Given the description of an element on the screen output the (x, y) to click on. 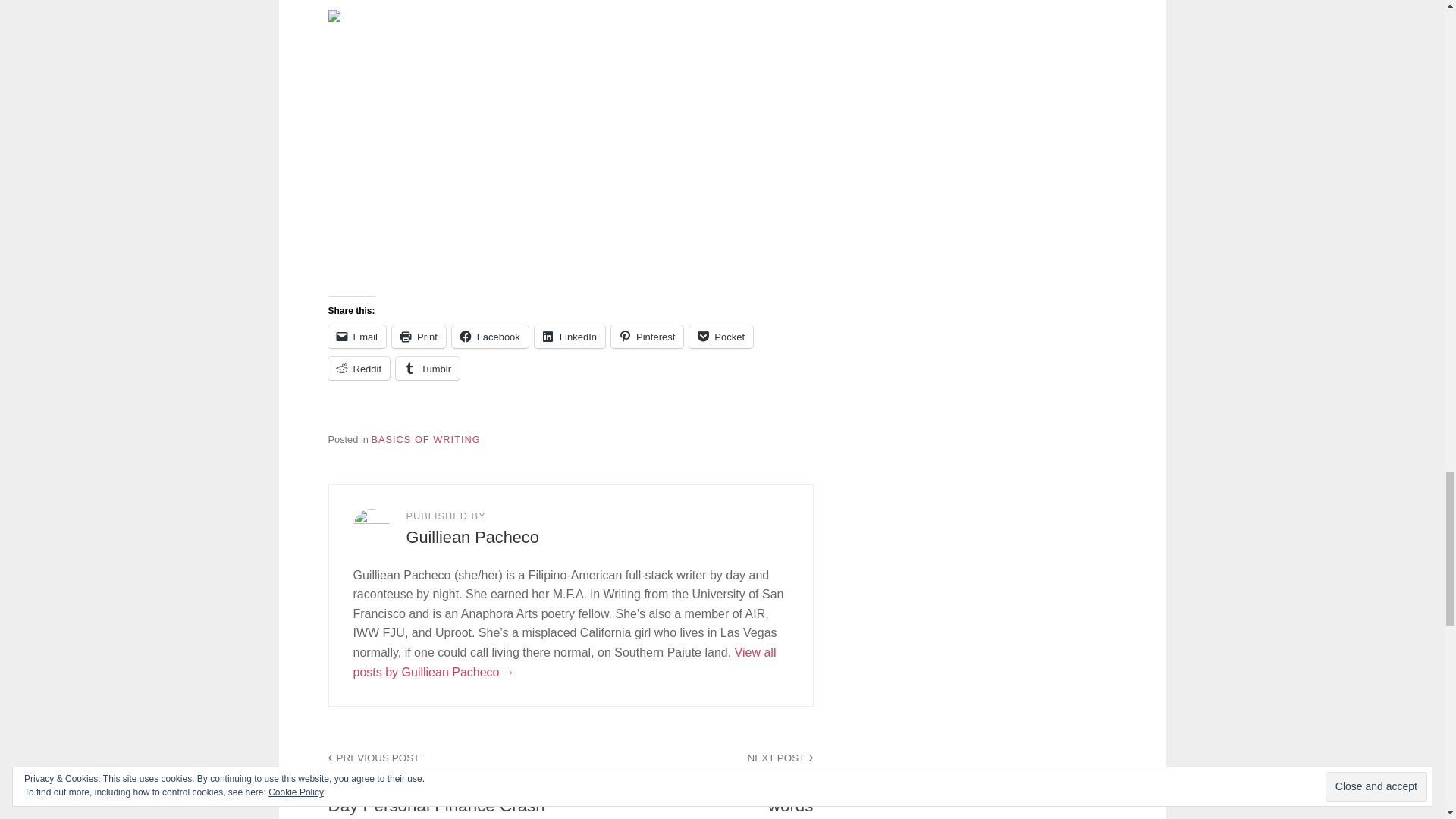
Click to share on Pinterest (646, 336)
View all posts by Guilliean Pacheco (564, 662)
Reddit (358, 368)
Pocket (720, 336)
LinkedIn (569, 336)
Email (691, 775)
BASICS OF WRITING (356, 336)
Click to share on Pocket (425, 439)
Click to share on Tumblr (720, 336)
